Given the description of an element on the screen output the (x, y) to click on. 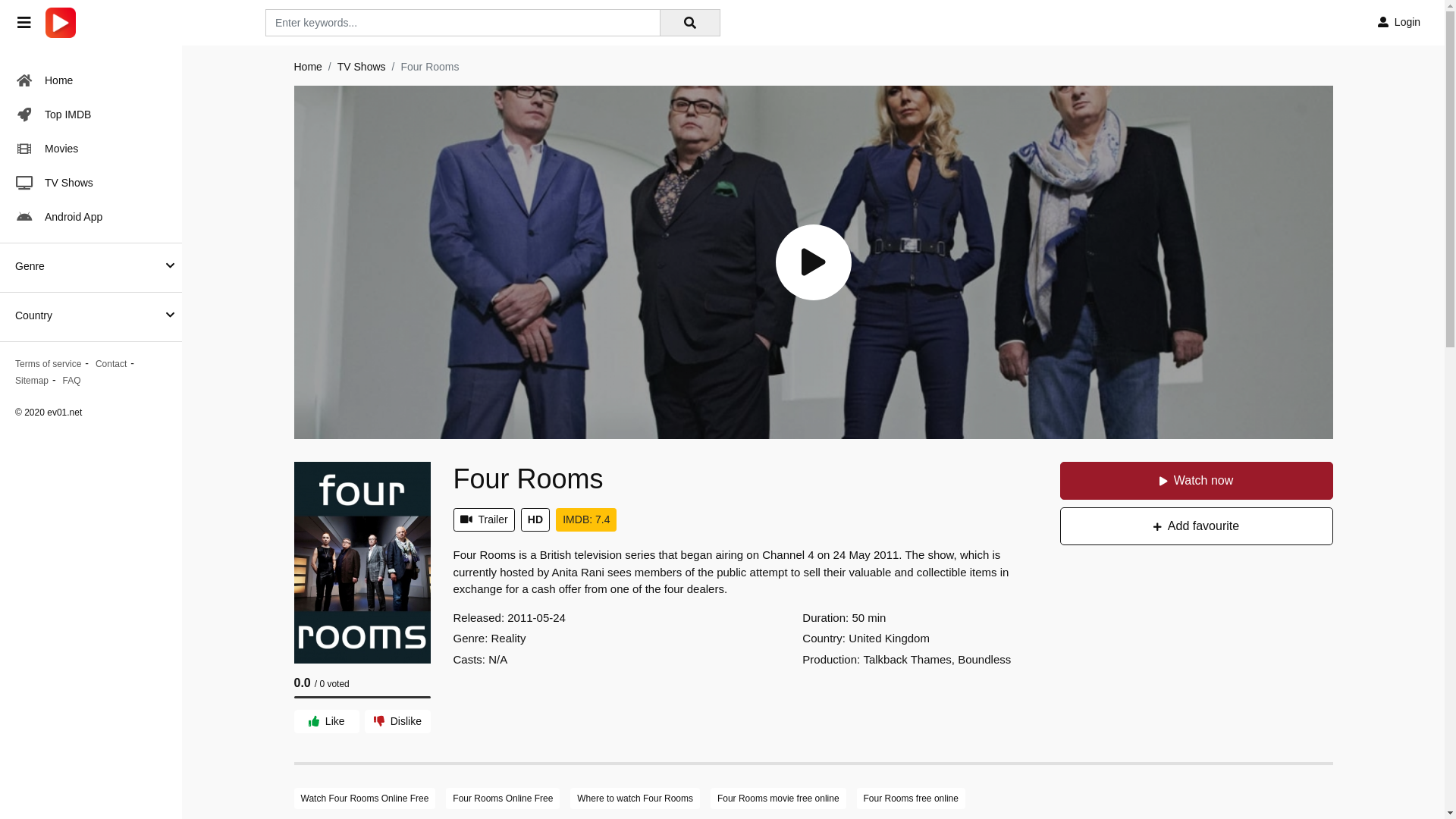
United Kingdom Element type: text (888, 637)
HD Element type: text (534, 519)
Sitemap Element type: text (31, 380)
Four Rooms Element type: hover (362, 562)
TV Shows Element type: text (91, 182)
IMDB: 7.4 Element type: text (585, 519)
Home Element type: text (91, 80)
Trailer Element type: text (483, 519)
Top IMDB Element type: text (91, 114)
Four Rooms Element type: text (528, 478)
Like Element type: text (326, 721)
Contact Element type: text (110, 363)
Watch now Element type: text (1196, 480)
Talkback Thames Element type: text (906, 658)
Dislike Element type: text (396, 721)
Country Element type: text (33, 315)
Terms of service Element type: text (48, 363)
ev01.net Element type: hover (60, 22)
Home Element type: text (308, 66)
Add favourite Element type: text (1196, 526)
Boundless Element type: text (983, 658)
Genre Element type: text (29, 266)
Android App Element type: text (91, 216)
TV Shows Element type: text (361, 66)
Movies Element type: text (91, 148)
Reality Element type: text (508, 637)
FAQ Element type: text (71, 380)
Login Element type: text (1399, 22)
